Given the description of an element on the screen output the (x, y) to click on. 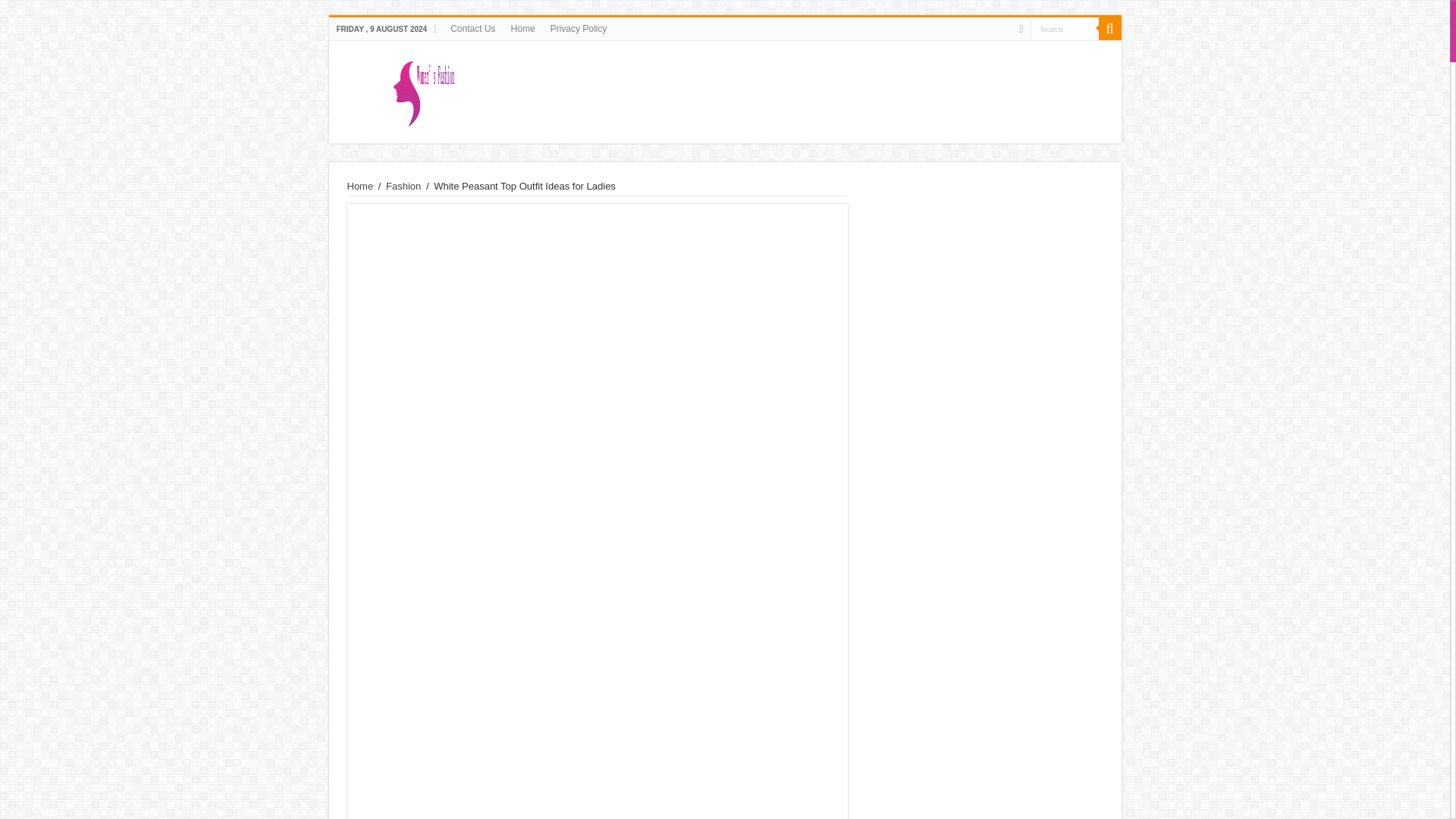
Home (360, 185)
Search (1063, 28)
Contact Us (472, 28)
Search (1063, 28)
kadininmodasi.org (724, 89)
Search (1109, 28)
Privacy Policy (578, 28)
Fashion (402, 185)
Advertisement (597, 754)
Home (523, 28)
